Given the description of an element on the screen output the (x, y) to click on. 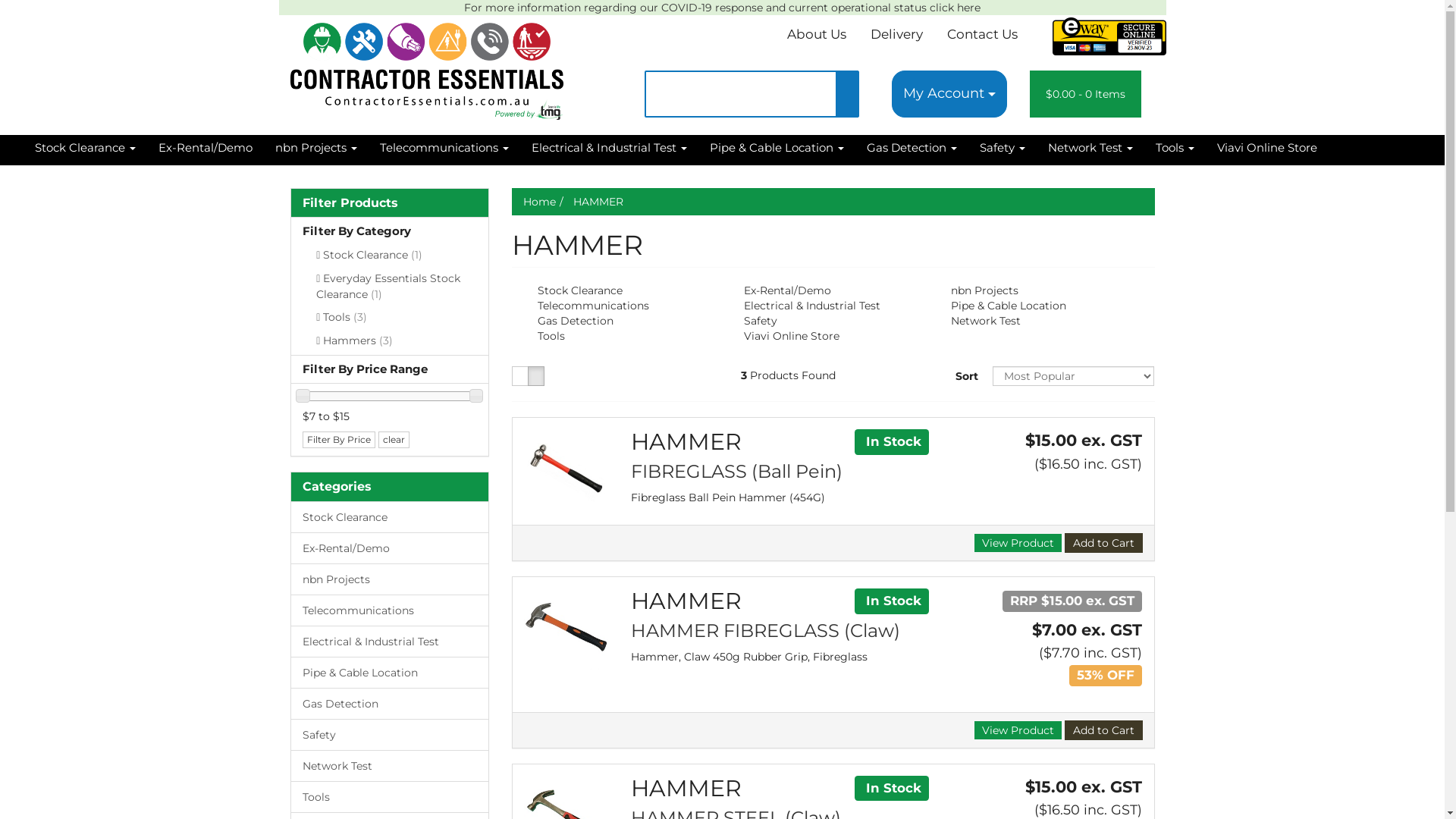
Electrical & Industrial Test Element type: text (810, 305)
Safety Element type: text (758, 320)
View Product Element type: text (1016, 542)
Contractor Essentials Element type: hover (425, 65)
About Us Element type: text (816, 33)
clear Element type: text (392, 439)
Gas Detection Element type: text (911, 149)
My Account Element type: text (949, 93)
Safety Element type: text (1002, 149)
nbn Projects Element type: text (315, 149)
Viavi Online Store Element type: text (789, 335)
Ex-Rental/Demo Element type: text (785, 290)
Pipe & Cable Location Element type: text (776, 149)
Pipe & Cable Location Element type: text (1006, 305)
Secure Check Out Element type: hover (1109, 36)
Search Element type: text (846, 93)
HAMMER FIBREGLASS (Claw) Element type: text (765, 630)
View Product Element type: text (1016, 730)
Ex-Rental/Demo Element type: text (390, 547)
Stock Clearance Element type: text (390, 517)
Electrical & Industrial Test Element type: text (609, 149)
Tools Element type: text (549, 335)
Add to Cart Element type: text (1103, 542)
Add to Cart Element type: text (1103, 730)
Pipe & Cable Location Element type: text (390, 672)
Safety Element type: text (390, 734)
nbn Projects Element type: text (390, 579)
Gas Detection Element type: text (573, 320)
Contact Us Element type: text (982, 33)
FIBREGLASS (Ball Pein) Element type: text (736, 471)
Network Test Element type: text (390, 765)
Tools (3) Element type: text (390, 319)
Ex-Rental/Demo Element type: text (205, 149)
Everyday Essentials Stock Clearance (1) Element type: text (390, 288)
Stock Clearance Element type: text (578, 290)
Telecommunications Element type: text (591, 305)
Hammers (3) Element type: text (390, 342)
HAMMER Element type: text (598, 201)
Filter Products Element type: text (388, 203)
$0.00 - 0 Items Element type: text (1085, 93)
Telecommunications Element type: text (444, 149)
Electrical & Industrial Test Element type: text (390, 641)
Viavi Online Store Element type: text (1266, 149)
Network Test Element type: text (1090, 149)
Network Test Element type: text (983, 320)
Filter By Price Element type: text (337, 439)
Delivery Element type: text (896, 33)
Tools Element type: text (1174, 149)
nbn Projects Element type: text (982, 290)
Tools Element type: text (390, 796)
Gas Detection Element type: text (390, 703)
Stock Clearance Element type: text (85, 149)
Telecommunications Element type: text (390, 610)
Home Element type: text (539, 201)
Stock Clearance (1) Element type: text (390, 257)
